Given the description of an element on the screen output the (x, y) to click on. 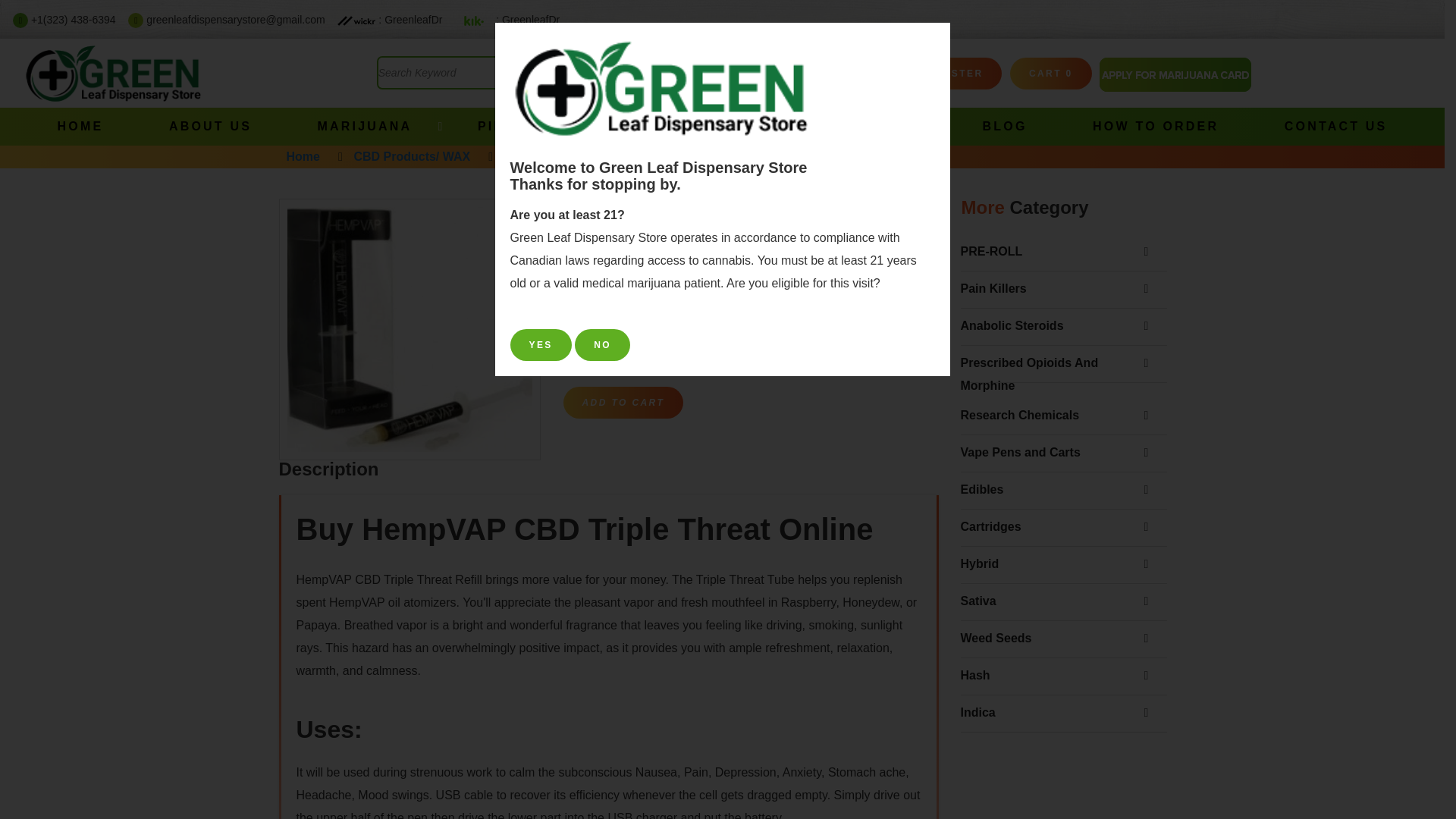
PRE-ROLL (1050, 251)
BLOG (1004, 126)
Home (303, 155)
CART 0 (1051, 73)
SHOP (611, 126)
MARIJUANA (364, 126)
HOME (80, 126)
Green Leaf Dispensary Store (114, 73)
PILLS (500, 126)
ABOUT US (209, 126)
HOW TO ORDER (1155, 126)
TESTIMONIALS (758, 126)
ADD TO CART (622, 402)
CONTACT US (1335, 126)
Pain Killers (1050, 288)
